Given the description of an element on the screen output the (x, y) to click on. 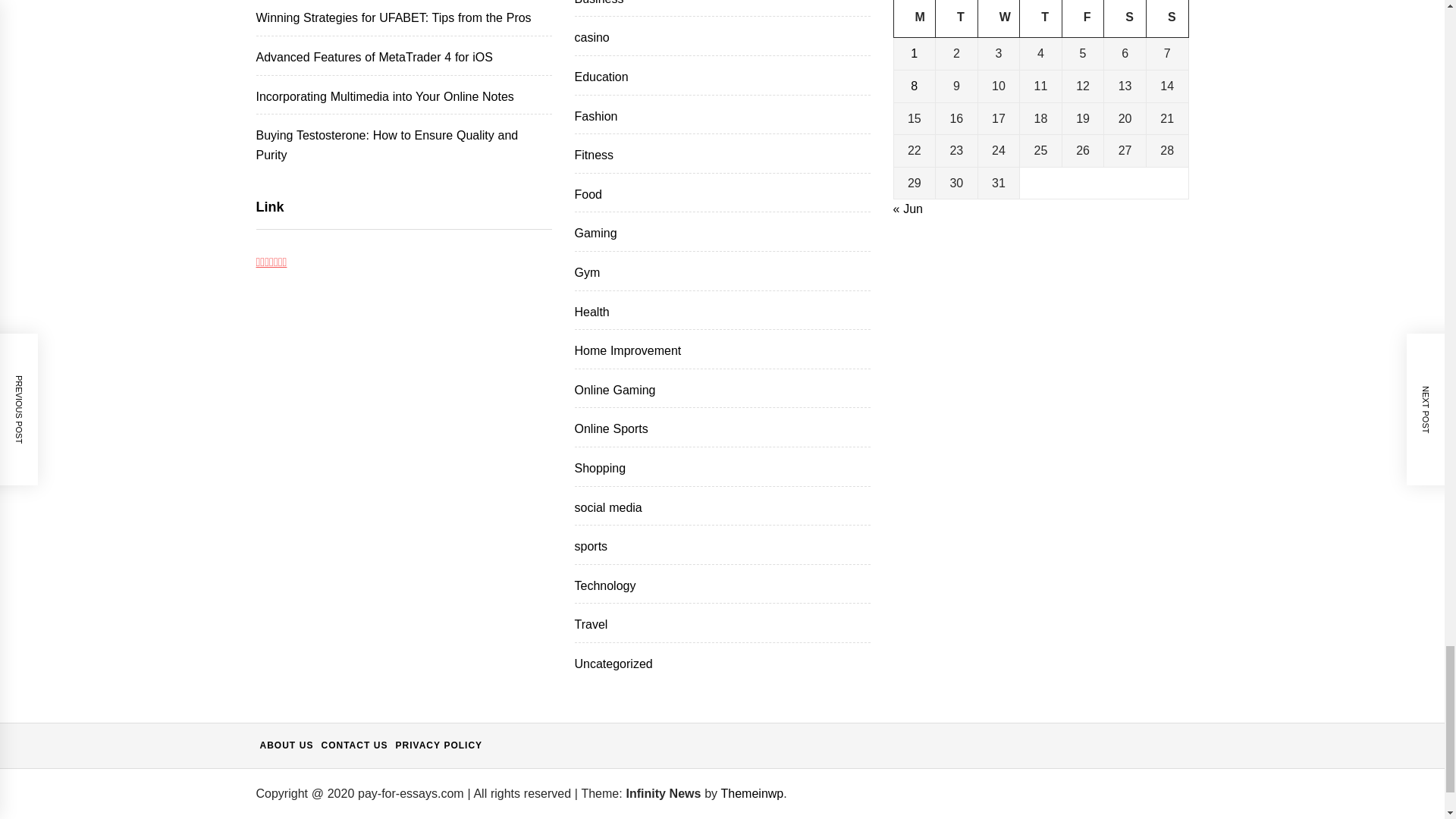
Sunday (1166, 18)
Thursday (1041, 18)
Monday (914, 18)
Tuesday (957, 18)
Friday (1082, 18)
Wednesday (998, 18)
Saturday (1125, 18)
